Given the description of an element on the screen output the (x, y) to click on. 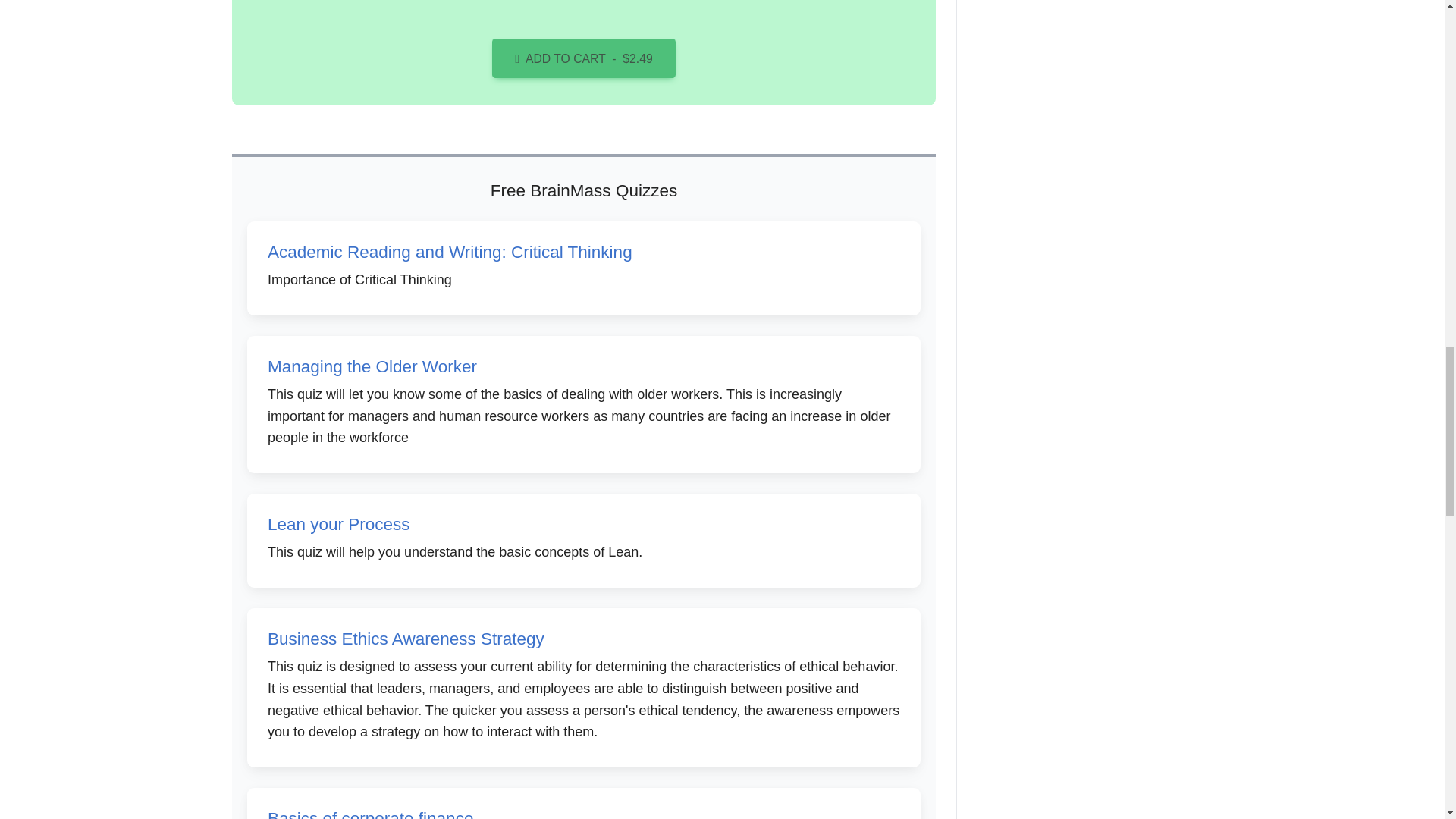
Basics of corporate finance (370, 814)
Academic Reading and Writing: Critical Thinking (449, 251)
Lean your Process (338, 524)
Managing the Older Worker (372, 366)
Business Ethics Awareness Strategy (405, 638)
